Given the description of an element on the screen output the (x, y) to click on. 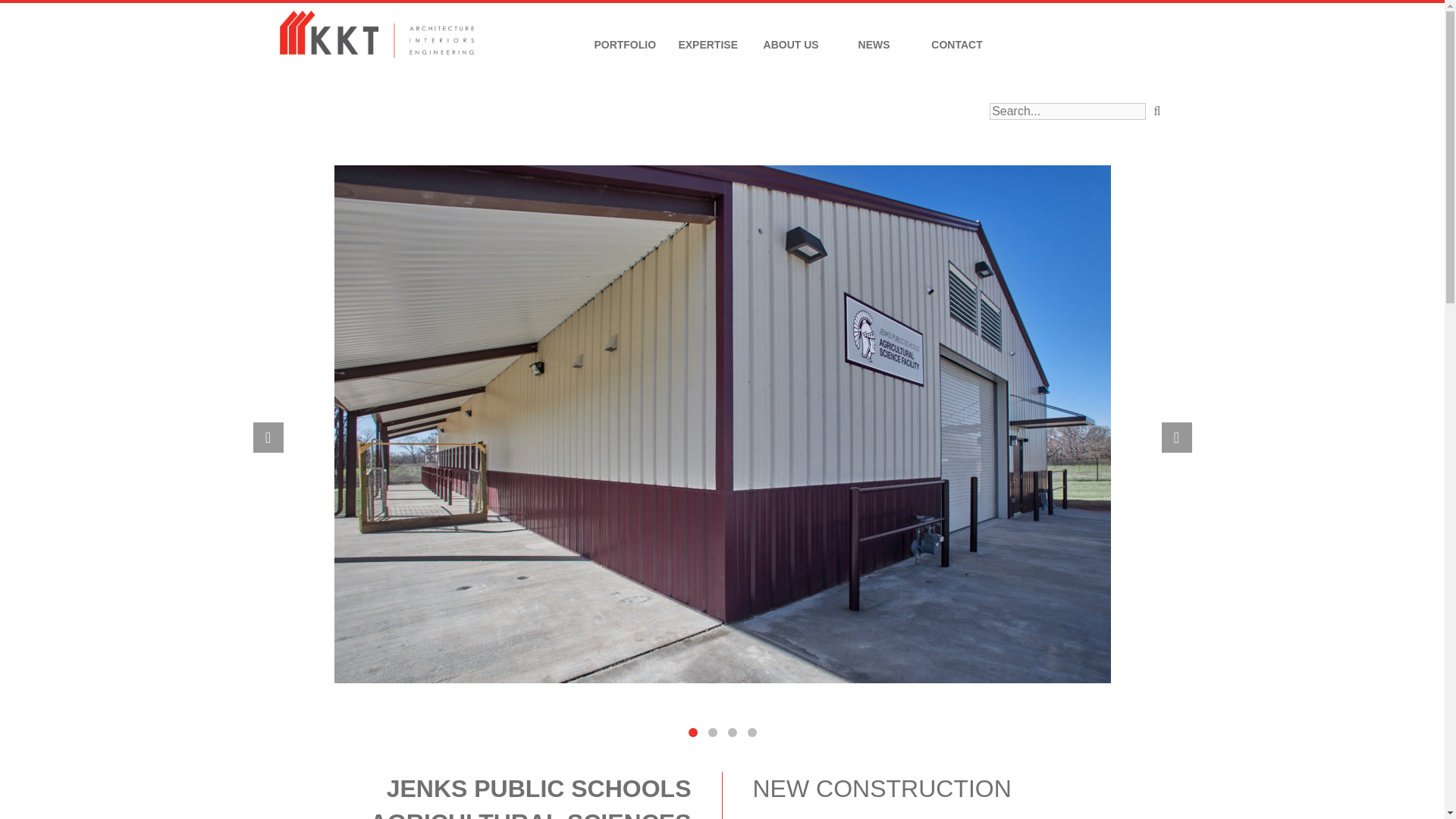
PORTFOLIO (625, 45)
EXPERTISE (708, 45)
2 (712, 732)
CONTACT (957, 45)
1 (692, 732)
4 (752, 732)
3 (732, 732)
NEWS (874, 45)
ABOUT US (791, 45)
